Given the description of an element on the screen output the (x, y) to click on. 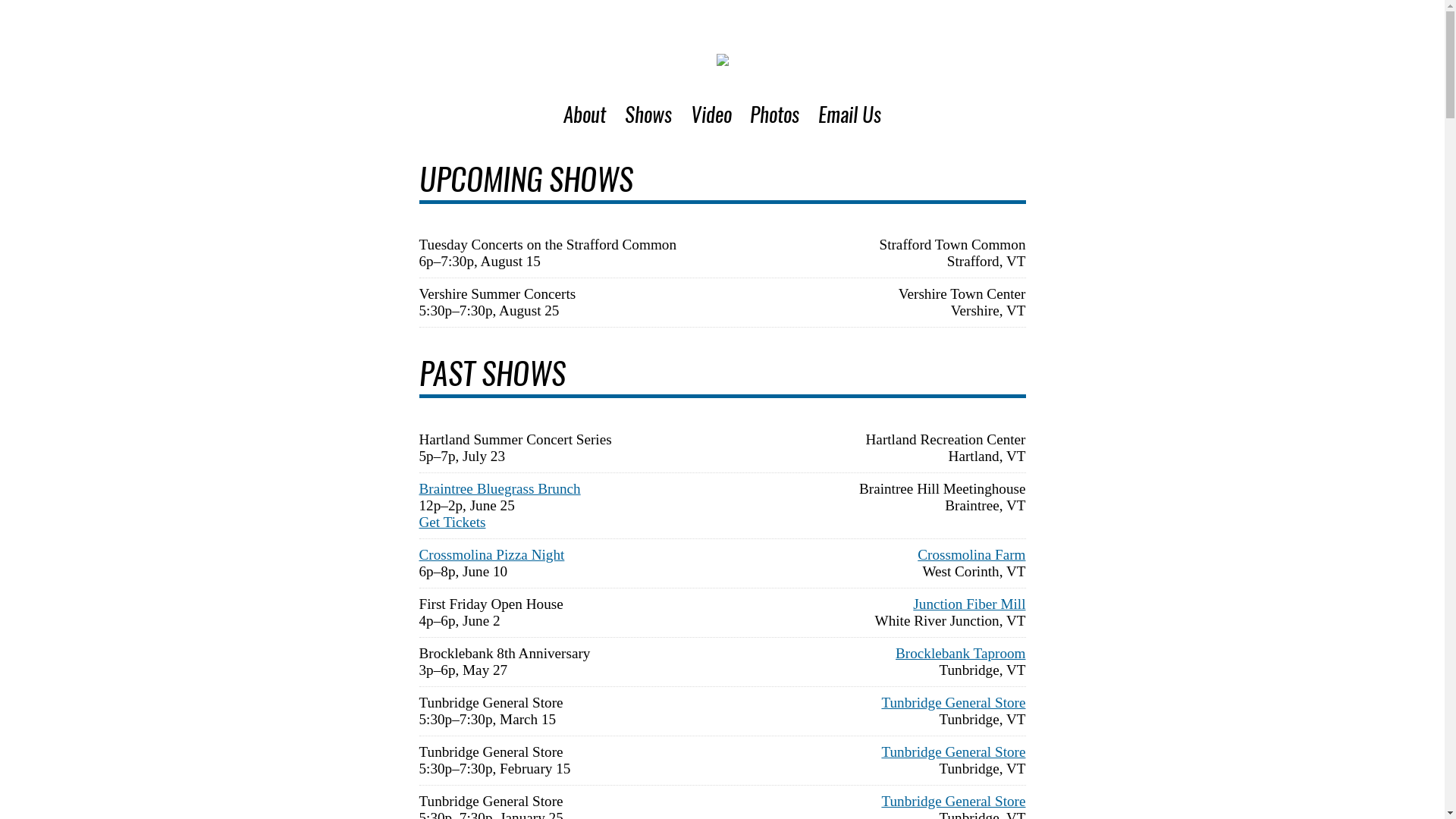
Braintree Bluegrass Brunch Element type: text (499, 488)
Brocklebank Taproom Element type: text (960, 653)
Tunbridge General Store Element type: text (953, 751)
Shows Element type: text (648, 116)
About Element type: text (584, 116)
Email Us Element type: text (849, 116)
Junction Fiber Mill Element type: text (969, 603)
Tunbridge General Store Element type: text (953, 702)
Tunbridge General Store Element type: text (953, 801)
Crossmolina Farm Element type: text (971, 554)
Crossmolina Pizza Night Element type: text (491, 554)
Get Tickets Element type: text (451, 522)
Video Element type: text (710, 116)
Photos Element type: text (774, 116)
